Given the description of an element on the screen output the (x, y) to click on. 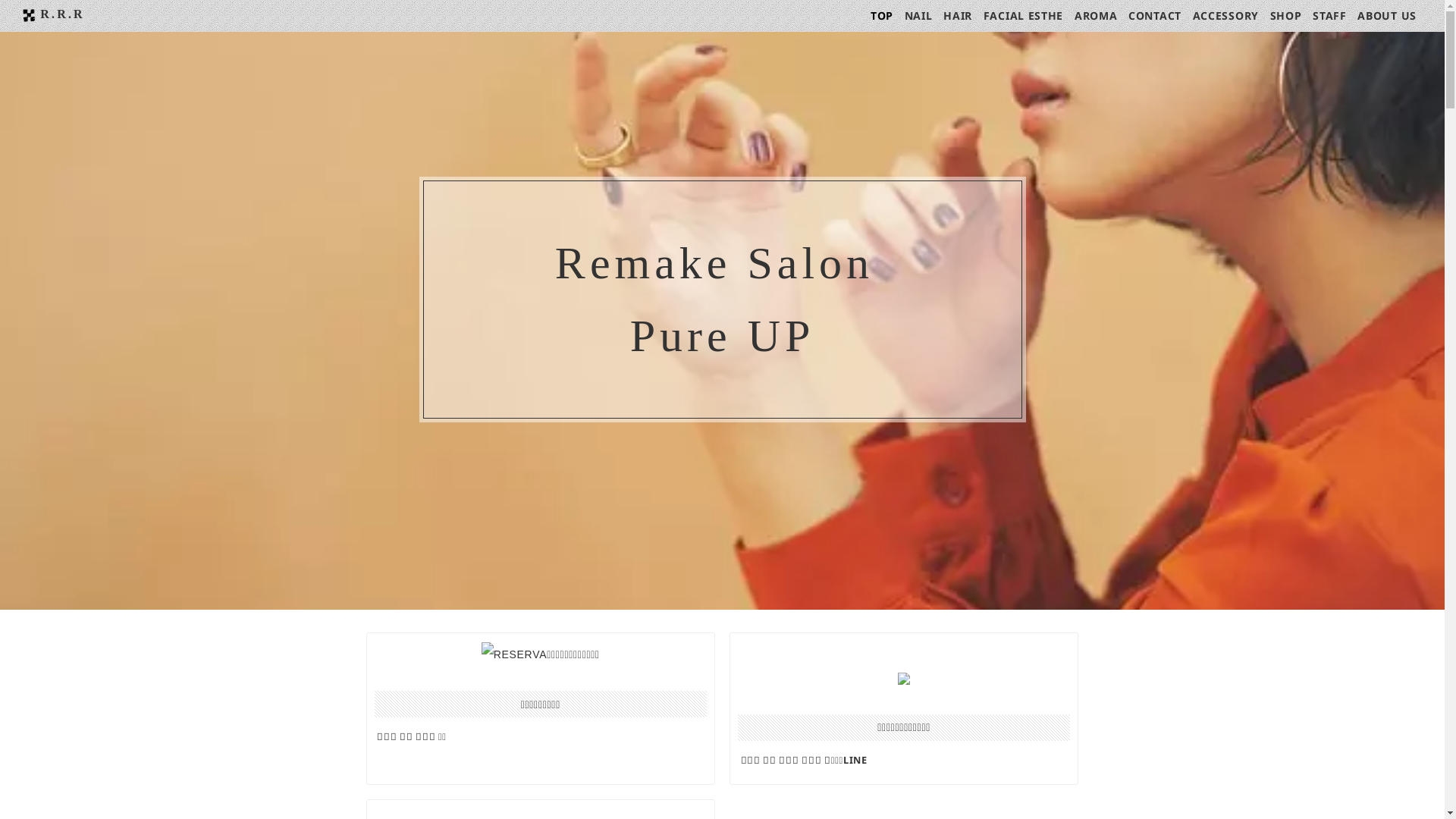
CONTACT Element type: text (1154, 15)
FACIAL ESTHE Element type: text (1023, 15)
TOP Element type: text (881, 15)
STAFF Element type: text (1329, 15)
SHOP Element type: text (1285, 15)
ABOUT US Element type: text (1386, 15)
HAIR Element type: text (957, 15)
NAIL Element type: text (918, 15)
AROMA Element type: text (1096, 15)
ACCESSORY Element type: text (1225, 15)
